Given the description of an element on the screen output the (x, y) to click on. 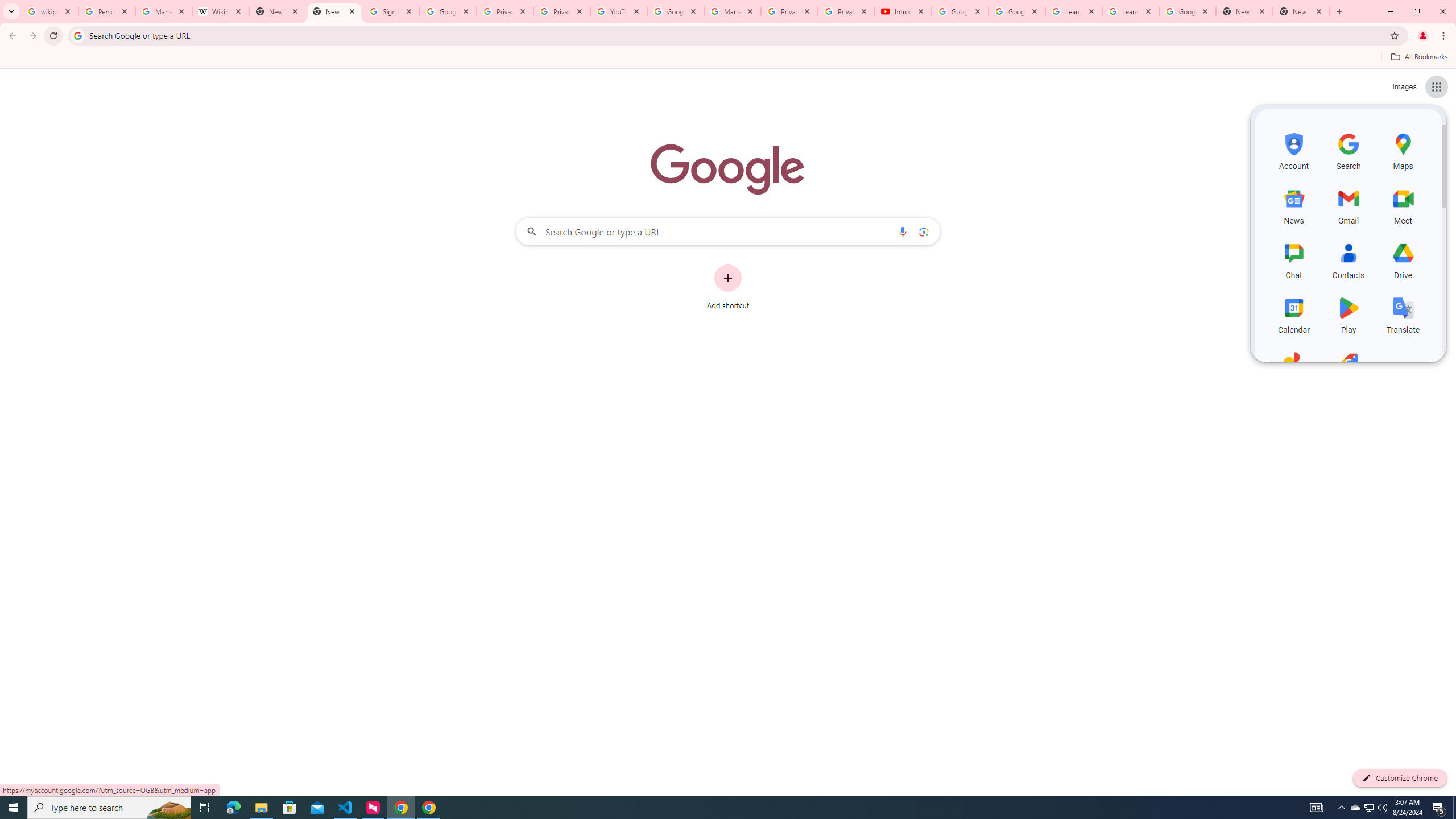
Maps, row 1 of 5 and column 3 of 3 in the first section (1402, 149)
Google Account Help (959, 11)
New Tab (334, 11)
Search, row 1 of 5 and column 2 of 3 in the first section (1348, 149)
Personalization & Google Search results - Google Search Help (105, 11)
Add shortcut (727, 287)
YouTube (618, 11)
Search Google or type a URL (727, 230)
Search icon (77, 35)
